Given the description of an element on the screen output the (x, y) to click on. 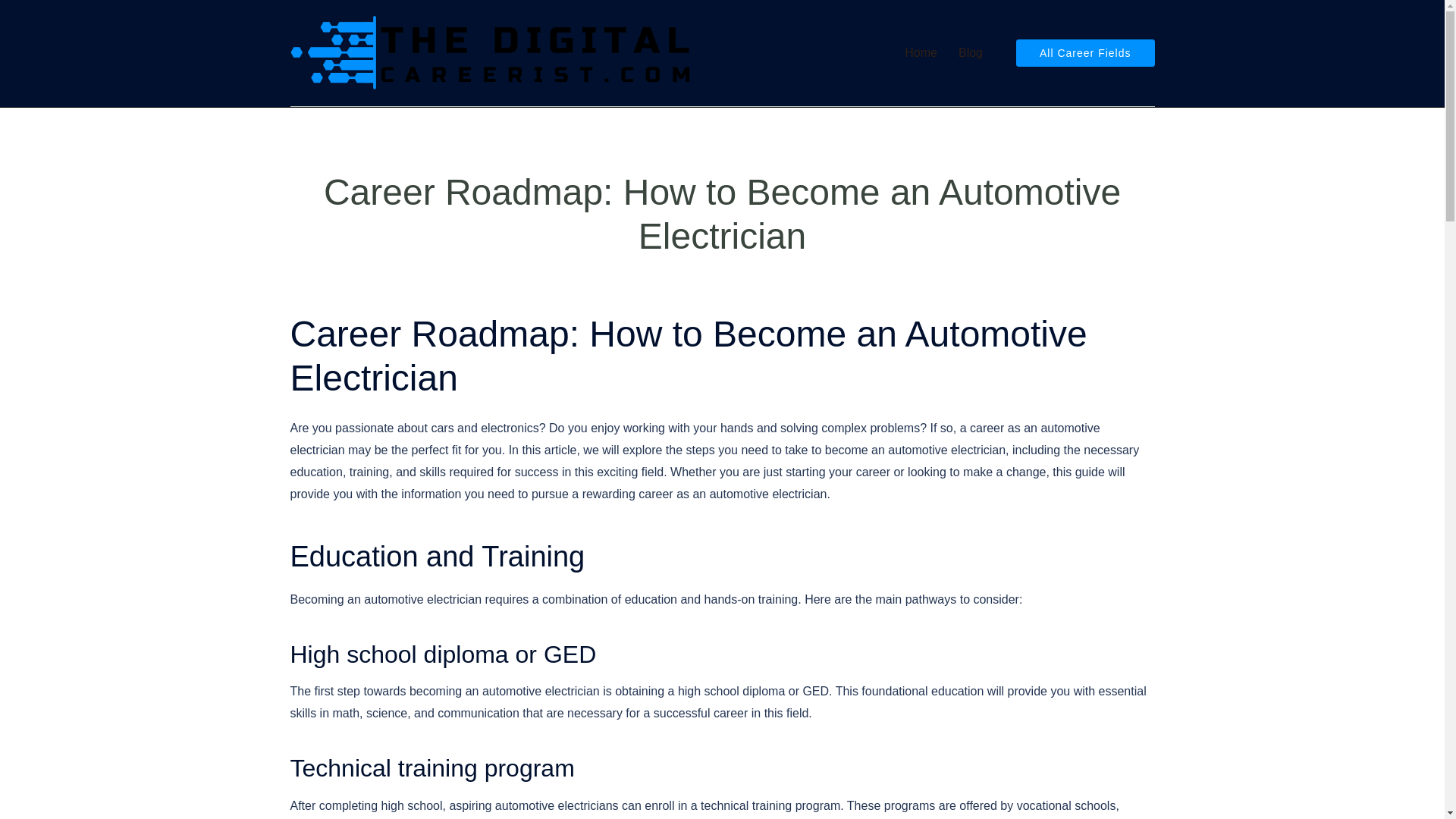
TheDigitalCareerist.com (490, 51)
All Career Fields (1085, 52)
Home (920, 53)
Blog (970, 53)
